Given the description of an element on the screen output the (x, y) to click on. 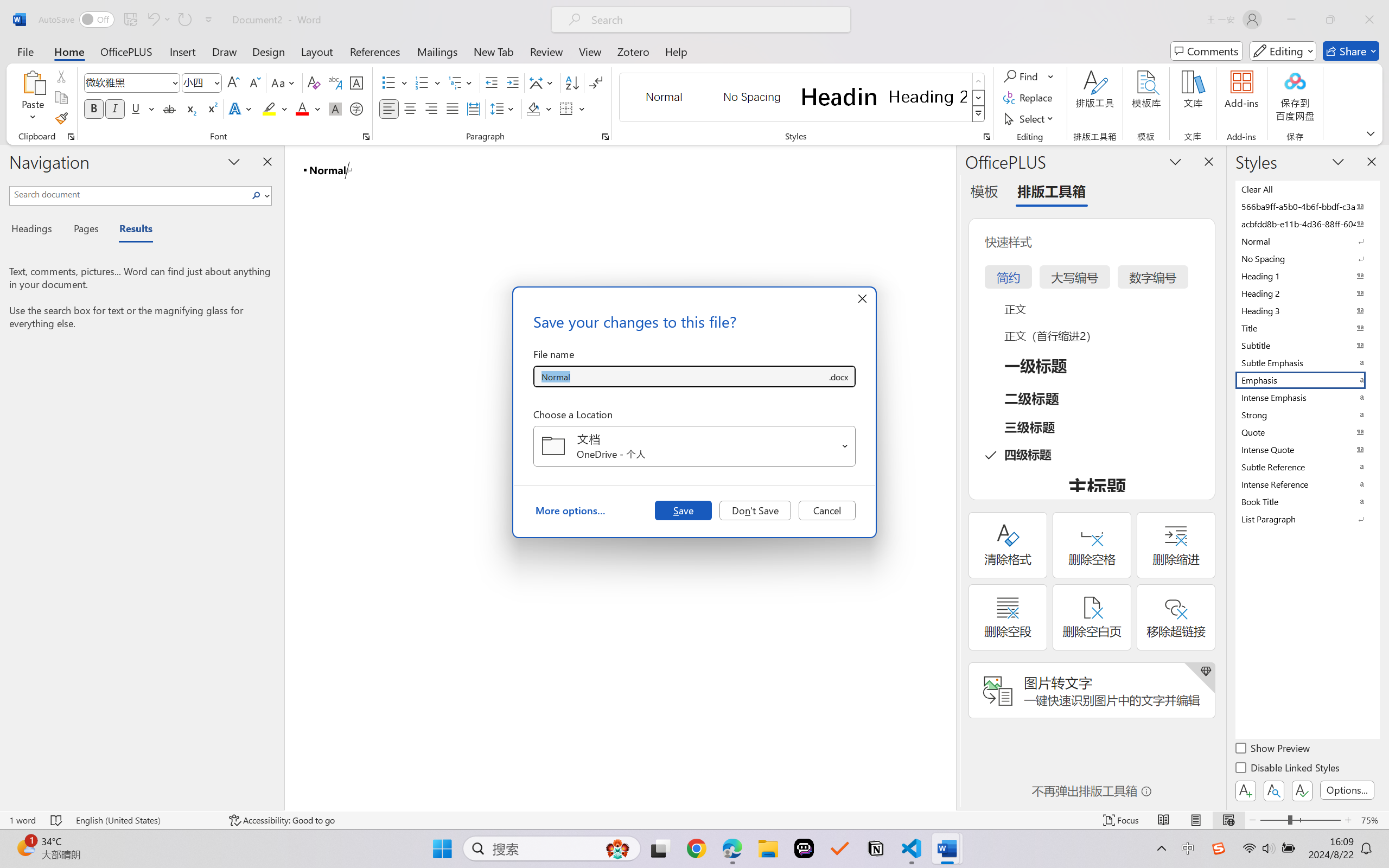
Justify (452, 108)
Subtle Emphasis (1306, 362)
Zoom Out (1273, 819)
Cancel (826, 509)
Asian Layout (542, 82)
AutomationID: BadgeAnchorLargeTicker (24, 847)
Bold (94, 108)
Font Size (196, 82)
